Given the description of an element on the screen output the (x, y) to click on. 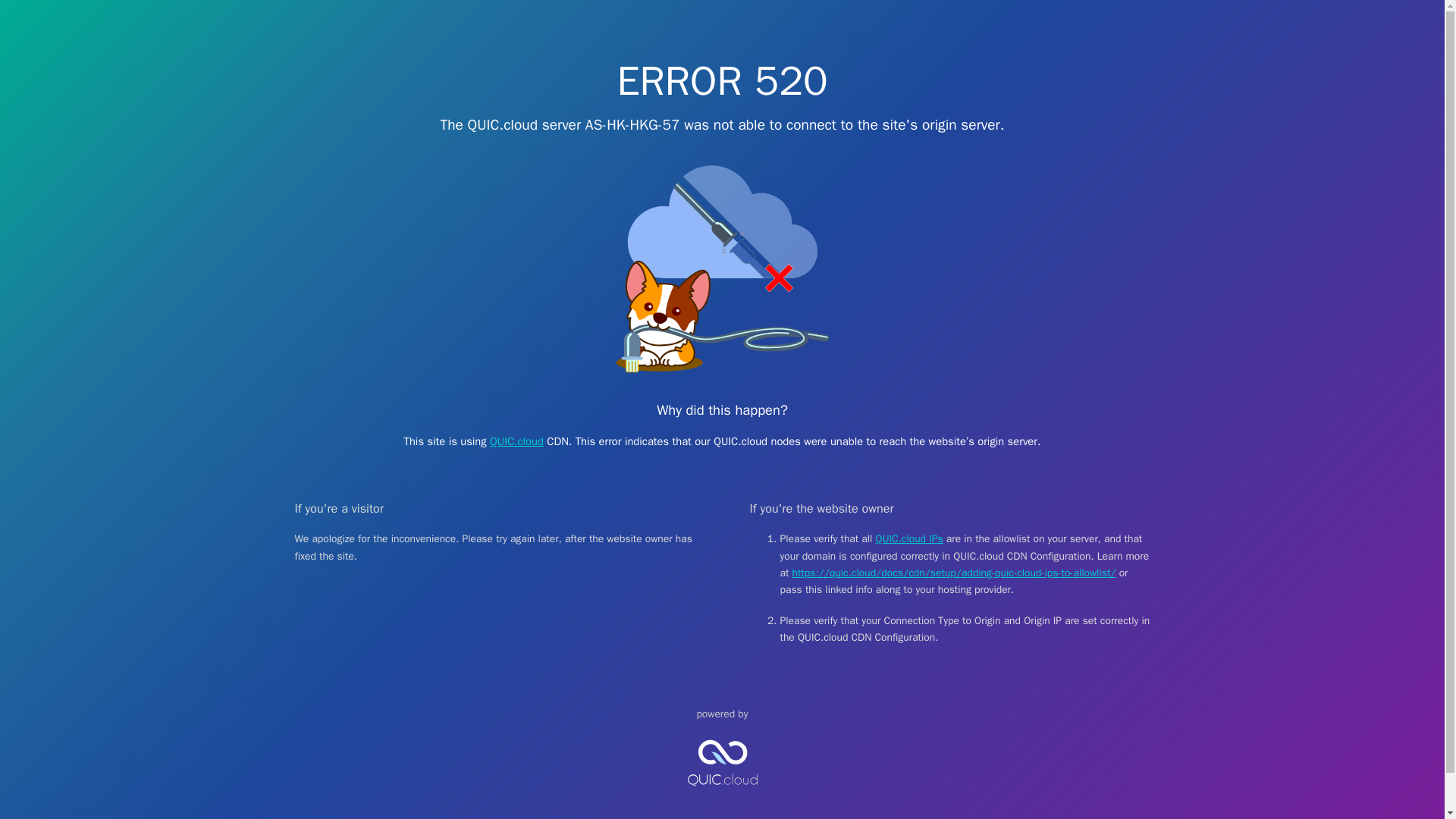
QUIC.cloud IPs (909, 538)
QUIC.cloud (516, 440)
QUIC.cloud (721, 798)
